Given the description of an element on the screen output the (x, y) to click on. 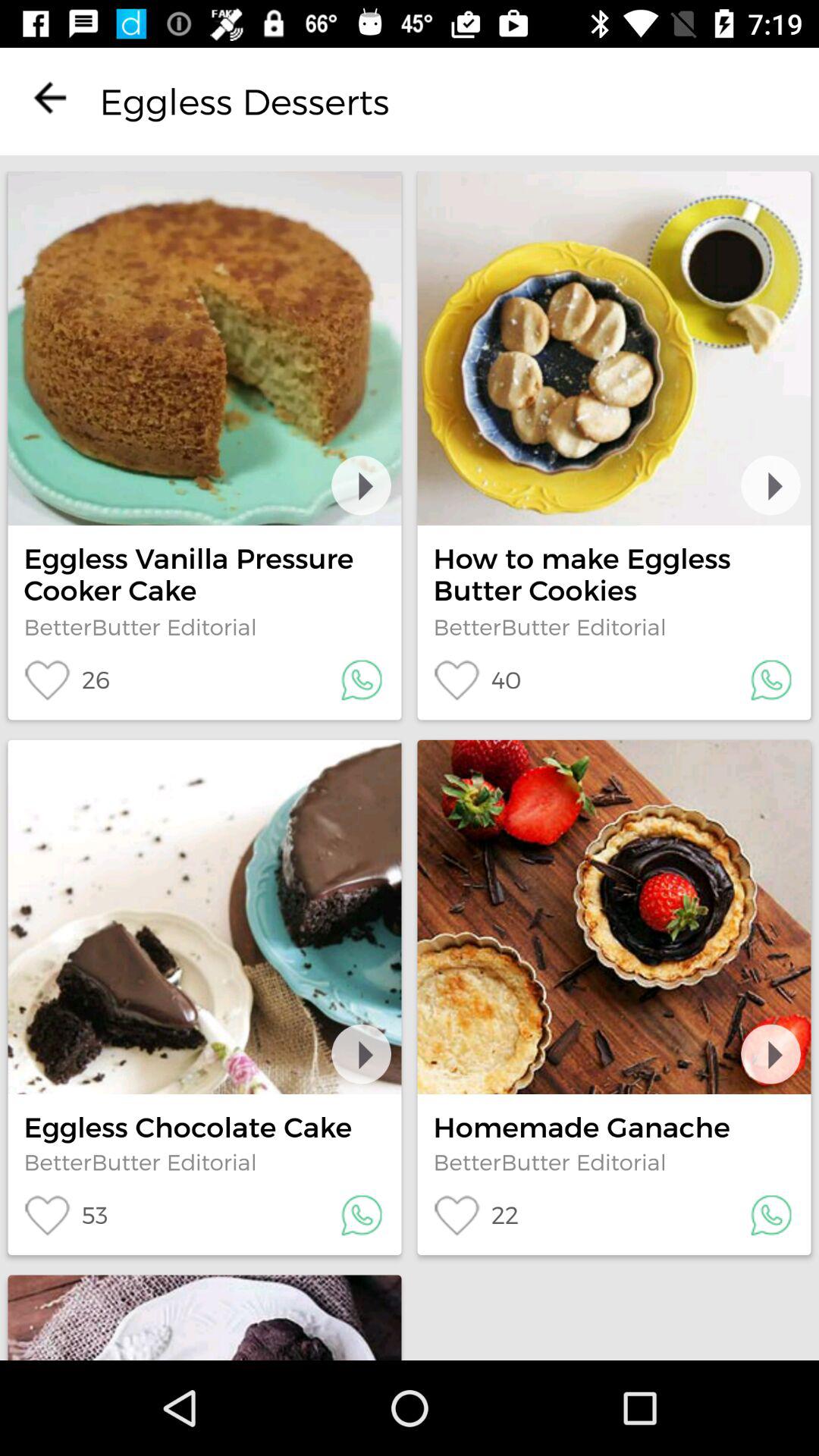
select the 53 item (65, 1215)
